Given the description of an element on the screen output the (x, y) to click on. 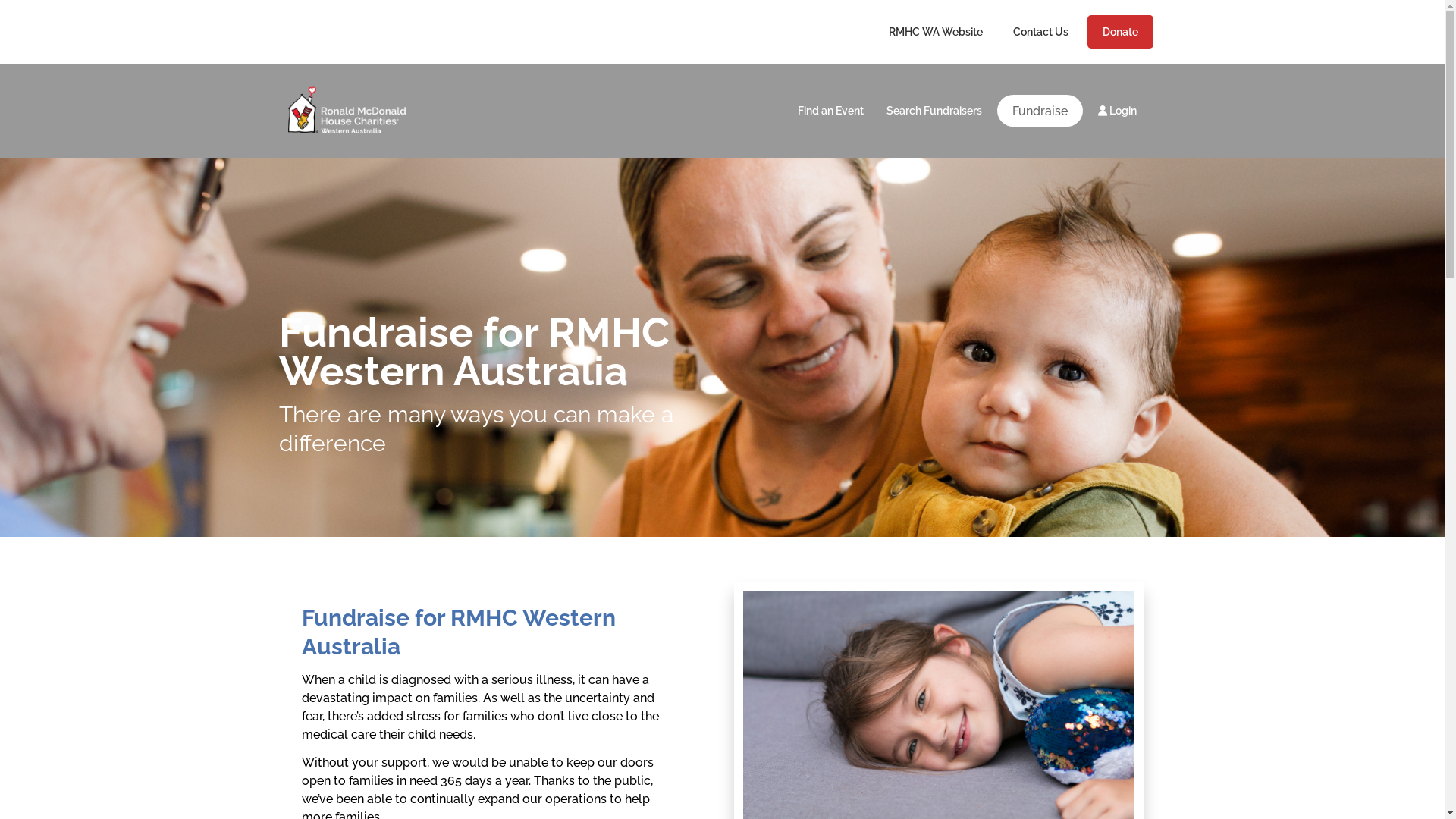
Login Element type: text (1116, 110)
RMHC WA Website Element type: text (934, 31)
Search Fundraisers Element type: text (934, 110)
Find an Event Element type: text (829, 110)
Fundraise Element type: text (1039, 110)
Donate Element type: text (1120, 31)
Contact Us Element type: text (1040, 31)
